Given the description of an element on the screen output the (x, y) to click on. 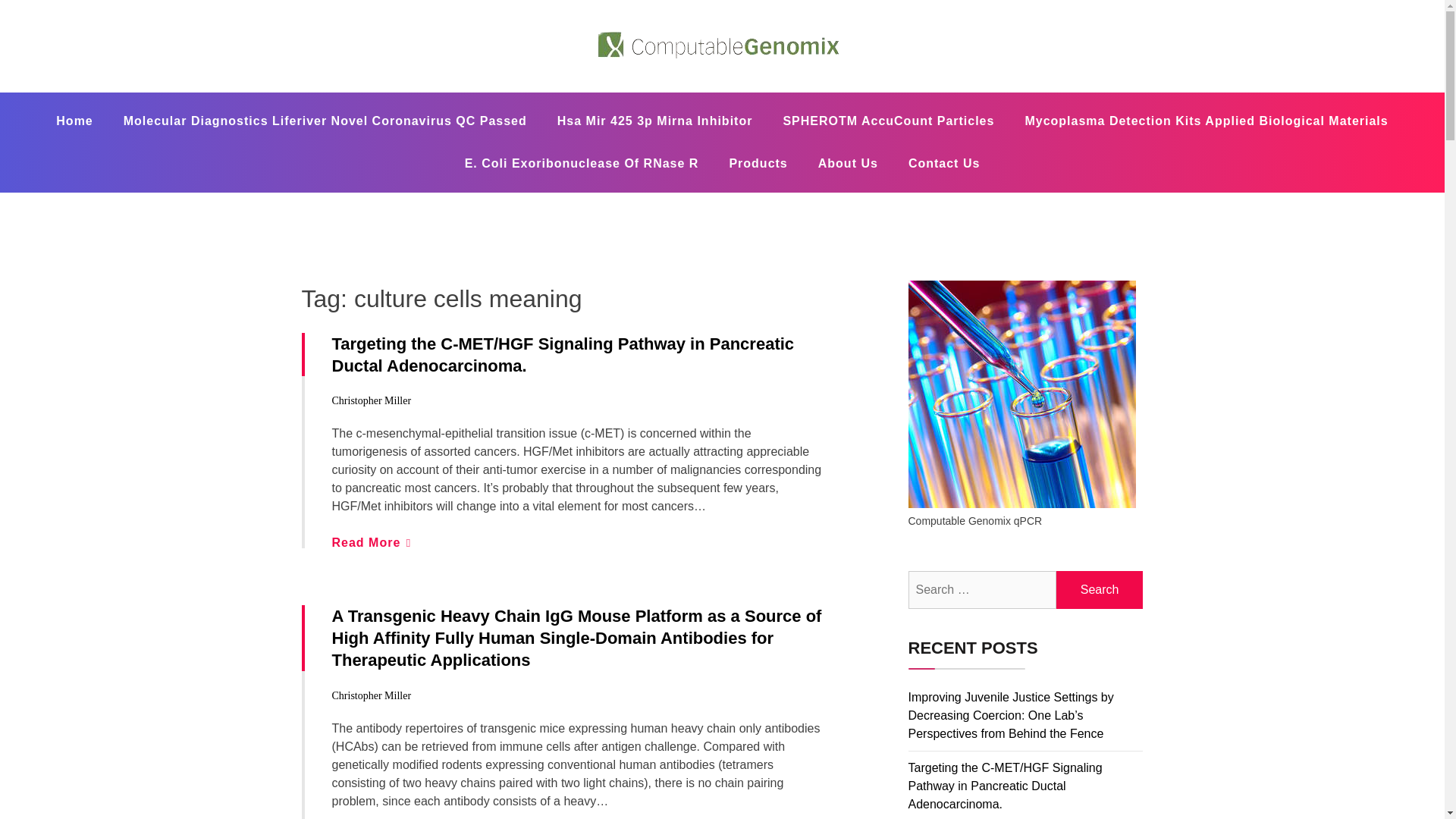
About Us (848, 163)
Products (757, 163)
Christopher Miller (371, 695)
Computable Genomix qPCR (531, 91)
Home (73, 120)
Contact Us (943, 163)
E. Coli Exoribonuclease Of RNase R (581, 163)
Computable Genomix qPCR (531, 91)
Molecular Diagnostics Liferiver Novel Coronavirus QC Passed (324, 120)
Christopher Miller (371, 400)
Search (1099, 589)
Search (1099, 589)
Search (1099, 589)
SPHEROTM AccuCount Particles (888, 120)
